Given the description of an element on the screen output the (x, y) to click on. 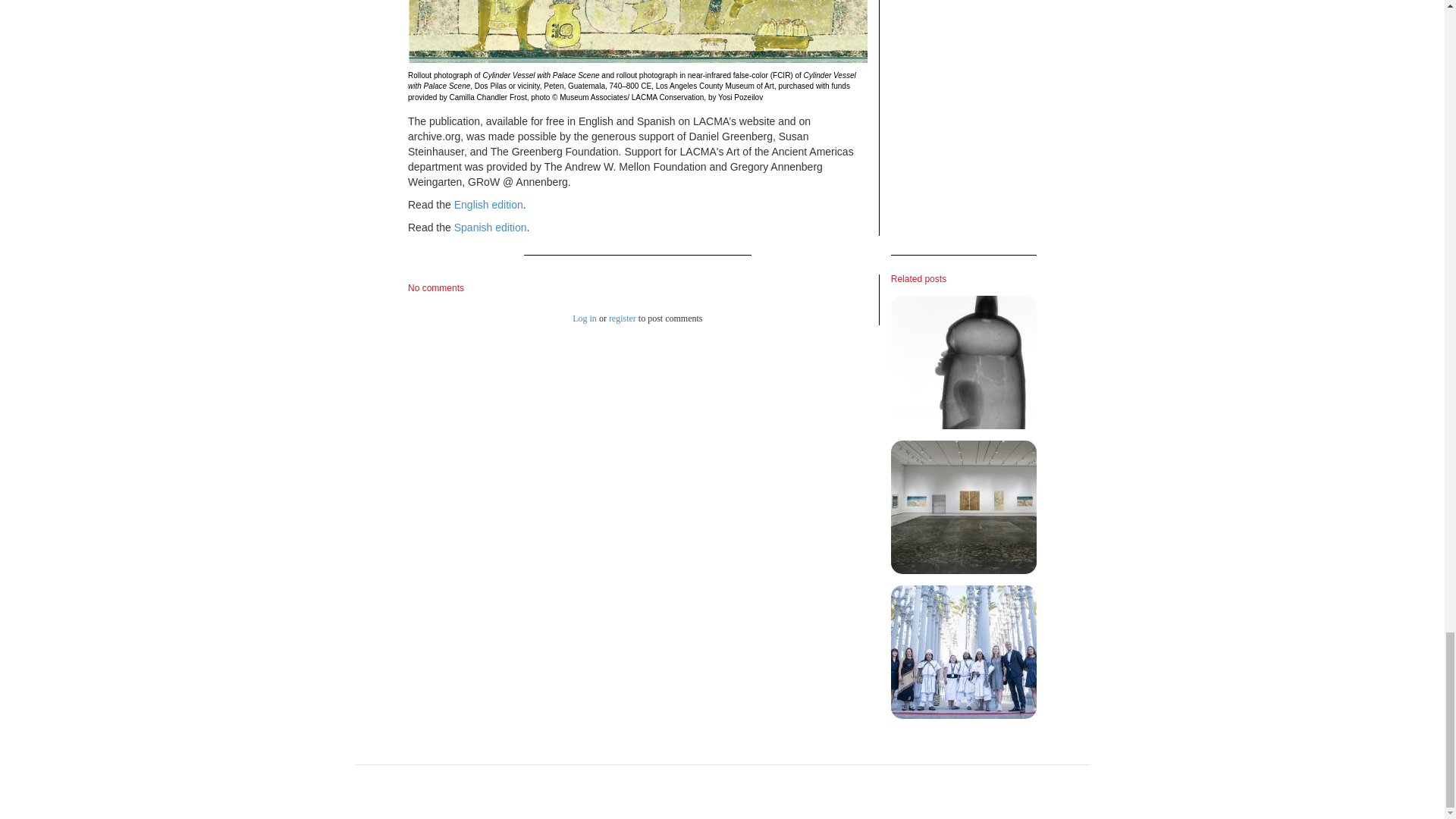
Evaluating the Authenticity of Ancient Artworks (963, 362)
English edition (488, 204)
Spanish edition (490, 227)
We Are Here: Mapping the Indigenous Migrant Communities of L (963, 507)
Log in (584, 317)
What Happened Next? (963, 652)
register (622, 317)
